Given the description of an element on the screen output the (x, y) to click on. 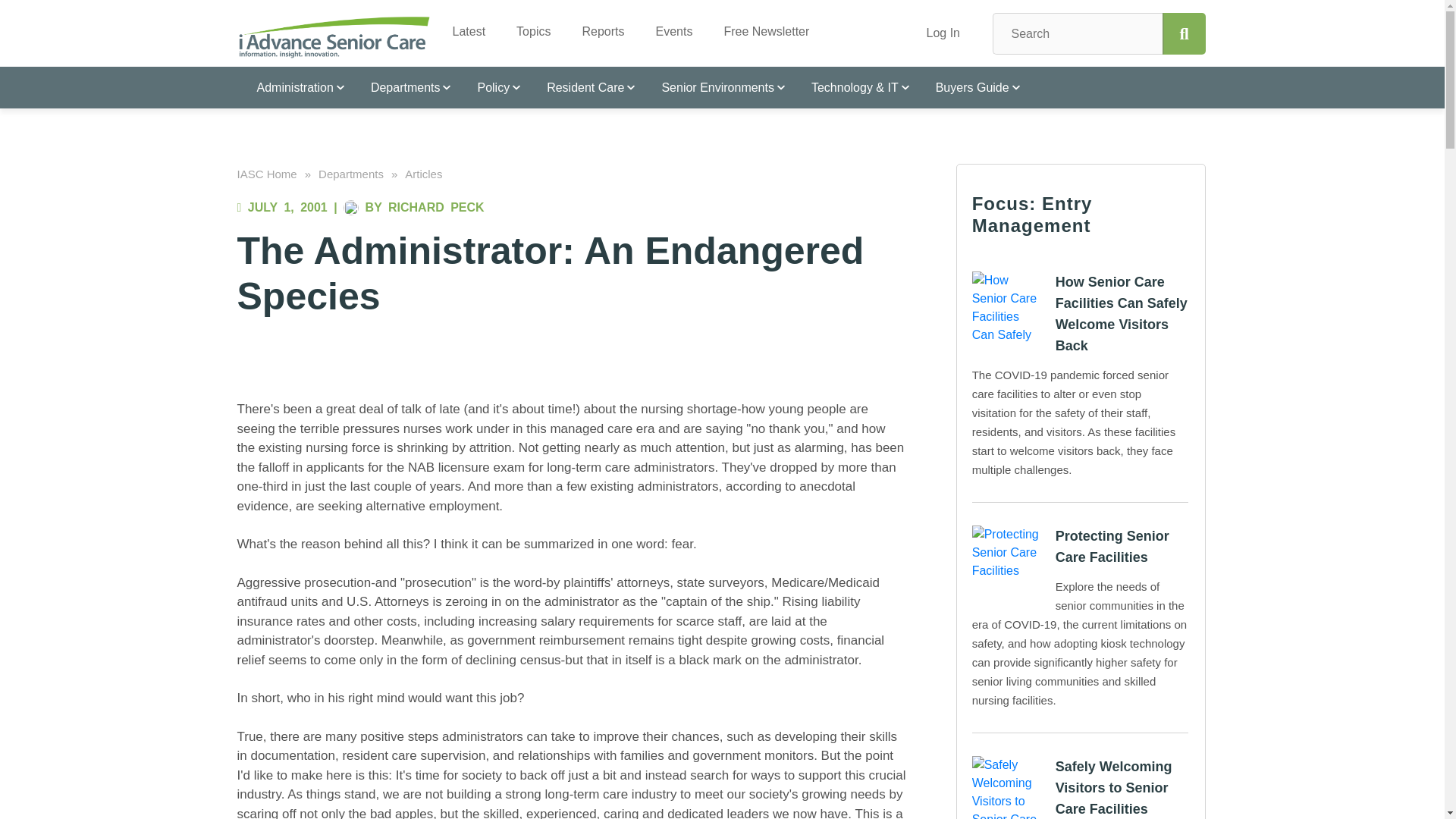
Topics (527, 26)
Latest (462, 26)
Events (667, 26)
Resident Care (584, 87)
Policy (492, 87)
Reports (596, 26)
Administration (292, 87)
Departments (404, 87)
Free Newsletter (759, 26)
I Advance Senior Care (332, 36)
